Given the description of an element on the screen output the (x, y) to click on. 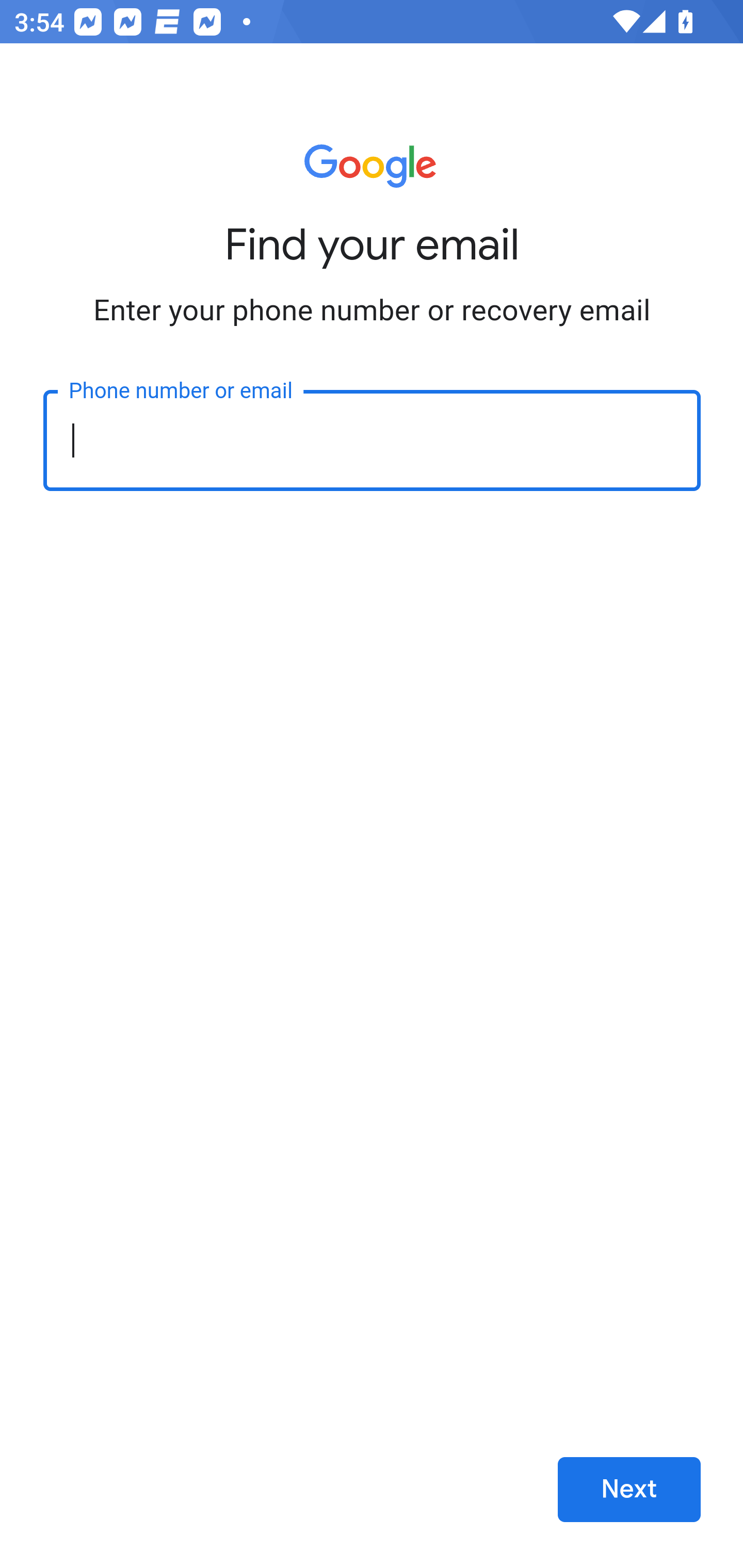
Next (629, 1490)
